Given the description of an element on the screen output the (x, y) to click on. 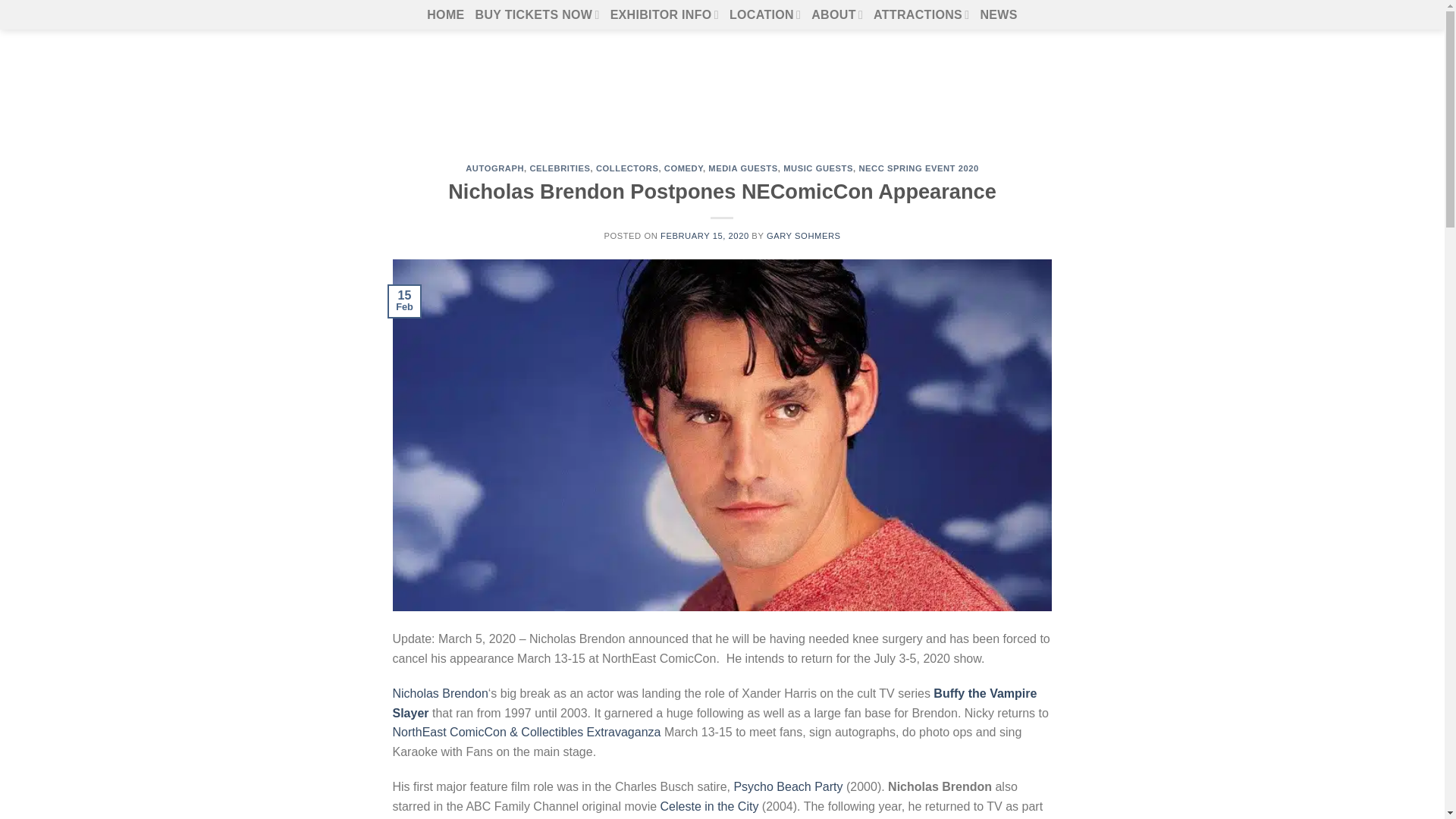
BUY TICKETS NOW (537, 14)
EXHIBITOR INFO (664, 14)
MEDIA GUESTS (742, 167)
ABOUT (836, 14)
LOCATION (764, 14)
HOME (445, 14)
AUTOGRAPH (494, 167)
COLLECTORS (626, 167)
COMEDY (683, 167)
CELEBRITIES (559, 167)
ATTRACTIONS (921, 14)
NEWS (997, 14)
